Given the description of an element on the screen output the (x, y) to click on. 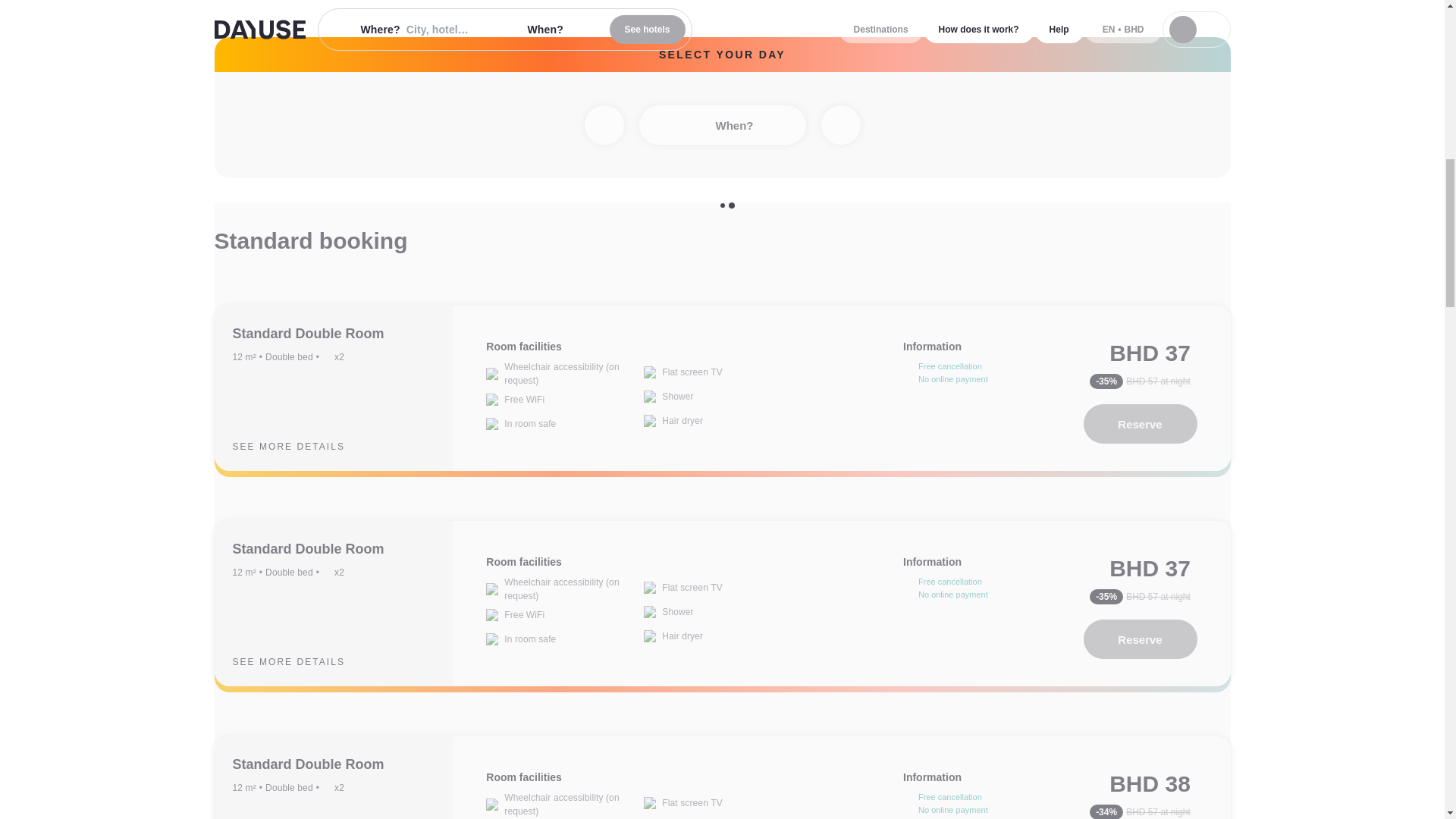
Previous day (603, 124)
SEE MORE DETAILS (300, 661)
When? (722, 124)
Reserve (1139, 423)
Next day (840, 124)
Reserve (1139, 639)
SEE MORE DETAILS (300, 446)
